Given the description of an element on the screen output the (x, y) to click on. 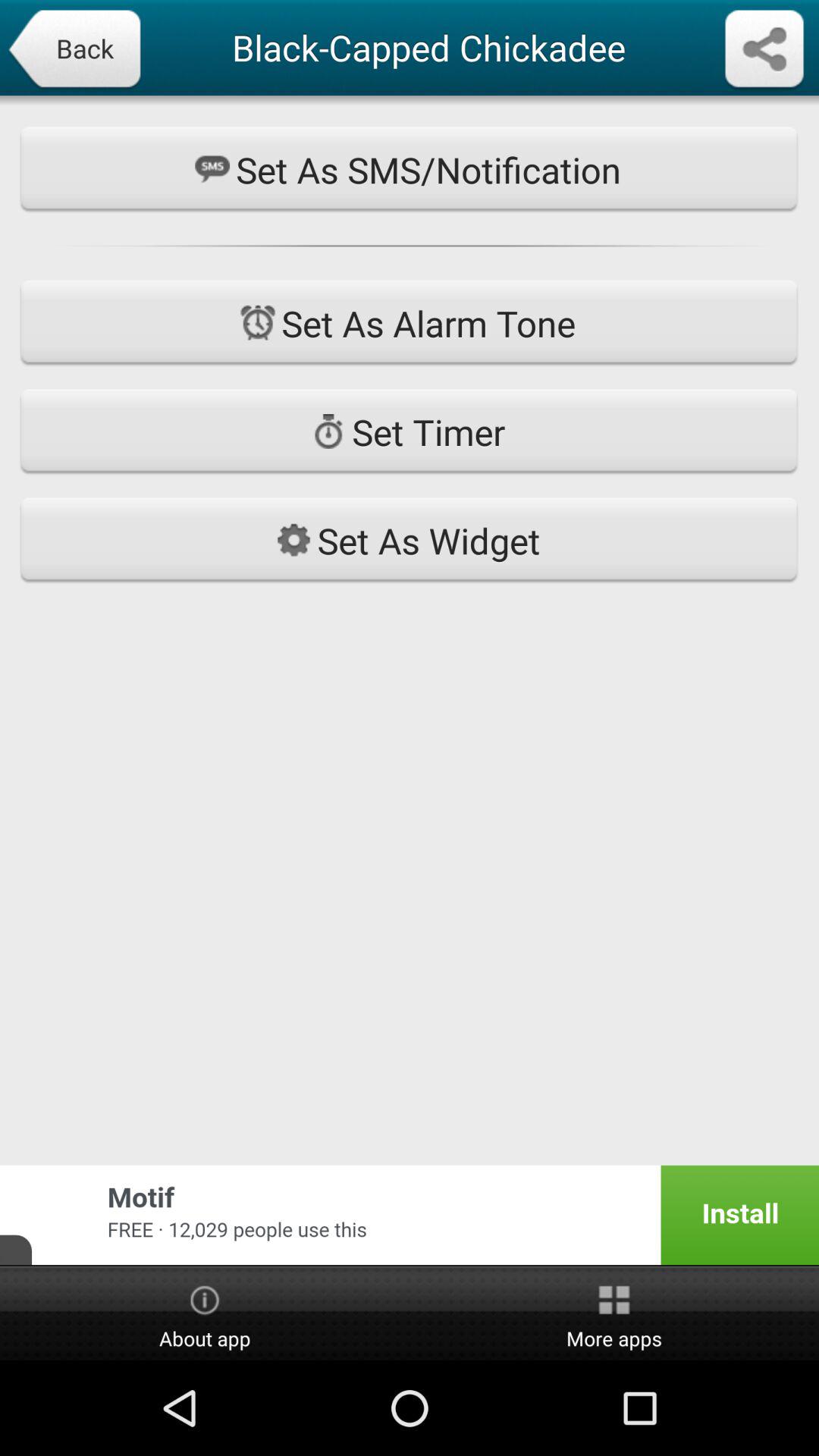
launch back icon (73, 50)
